Given the description of an element on the screen output the (x, y) to click on. 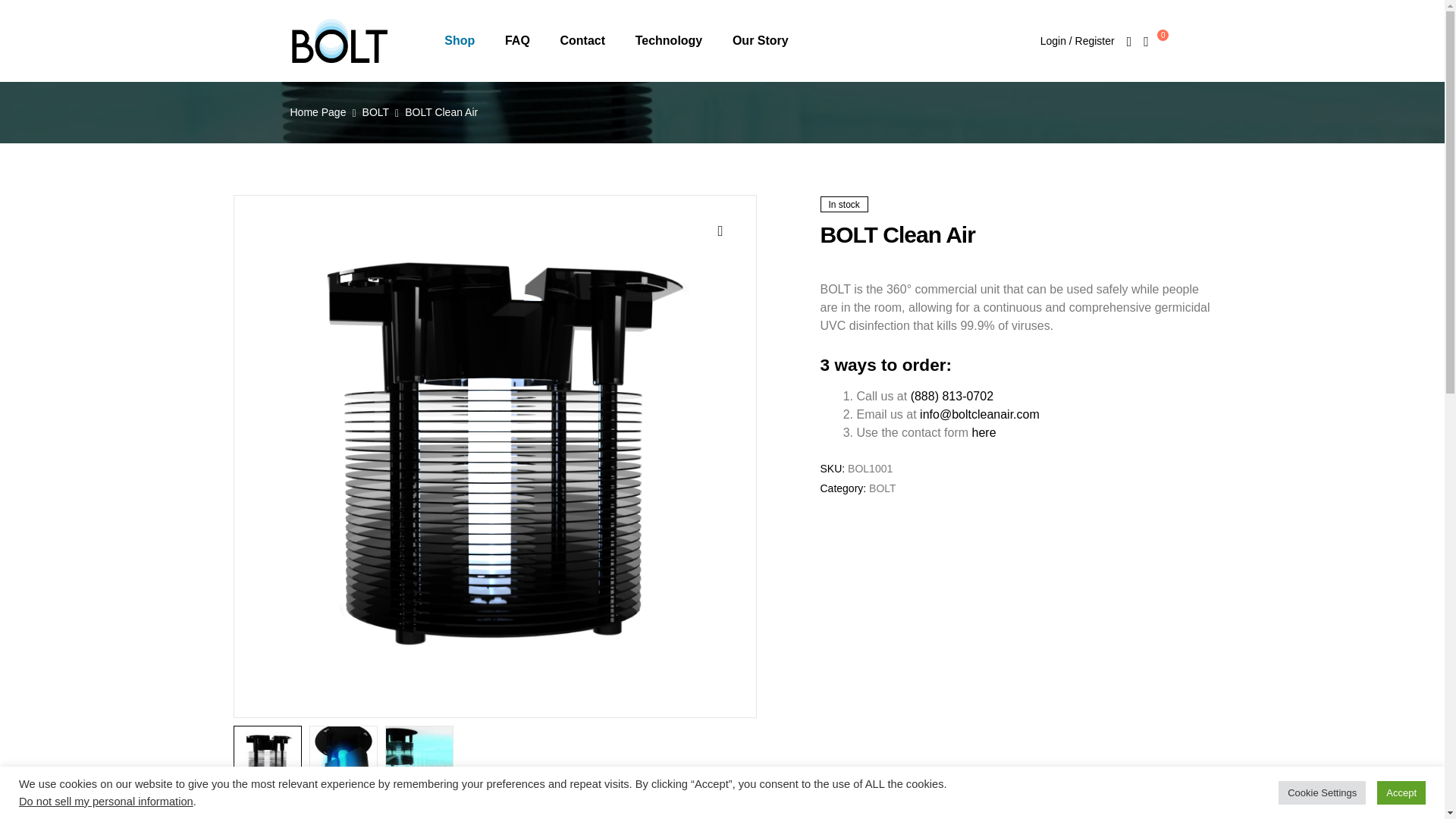
Shop (458, 40)
Technology (668, 40)
Search (895, 248)
BOLT (882, 488)
Our Story (760, 40)
here (983, 431)
Home Page (317, 111)
Contact (582, 40)
BOLT (376, 111)
